Given the description of an element on the screen output the (x, y) to click on. 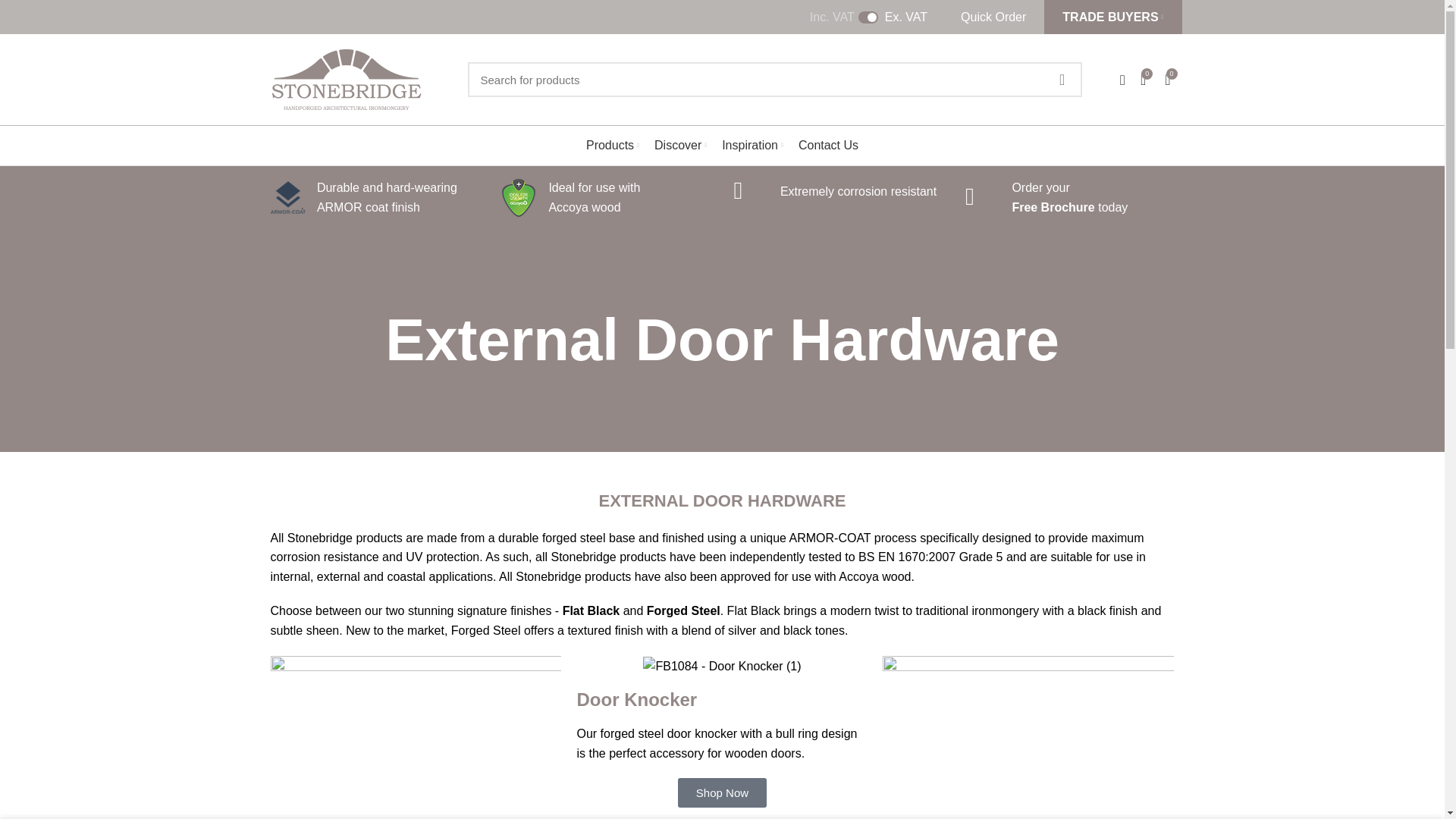
Products (612, 145)
Quick Order (992, 17)
Search for products (774, 79)
Search (1061, 79)
Inc. VATEx. VAT (868, 16)
TRADE BUYERS (1111, 17)
